Given the description of an element on the screen output the (x, y) to click on. 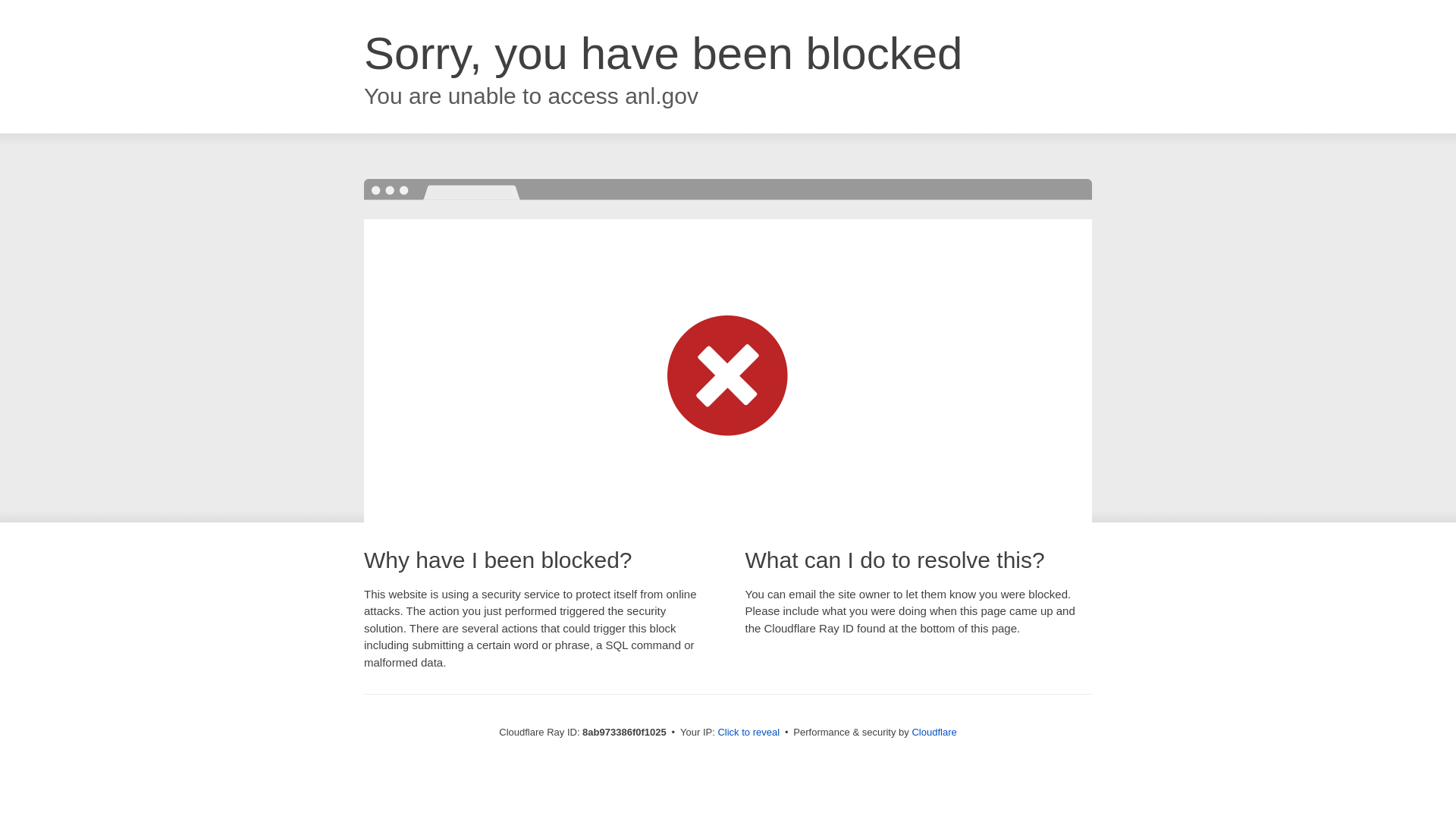
Click to reveal (747, 732)
Cloudflare (933, 731)
